Given the description of an element on the screen output the (x, y) to click on. 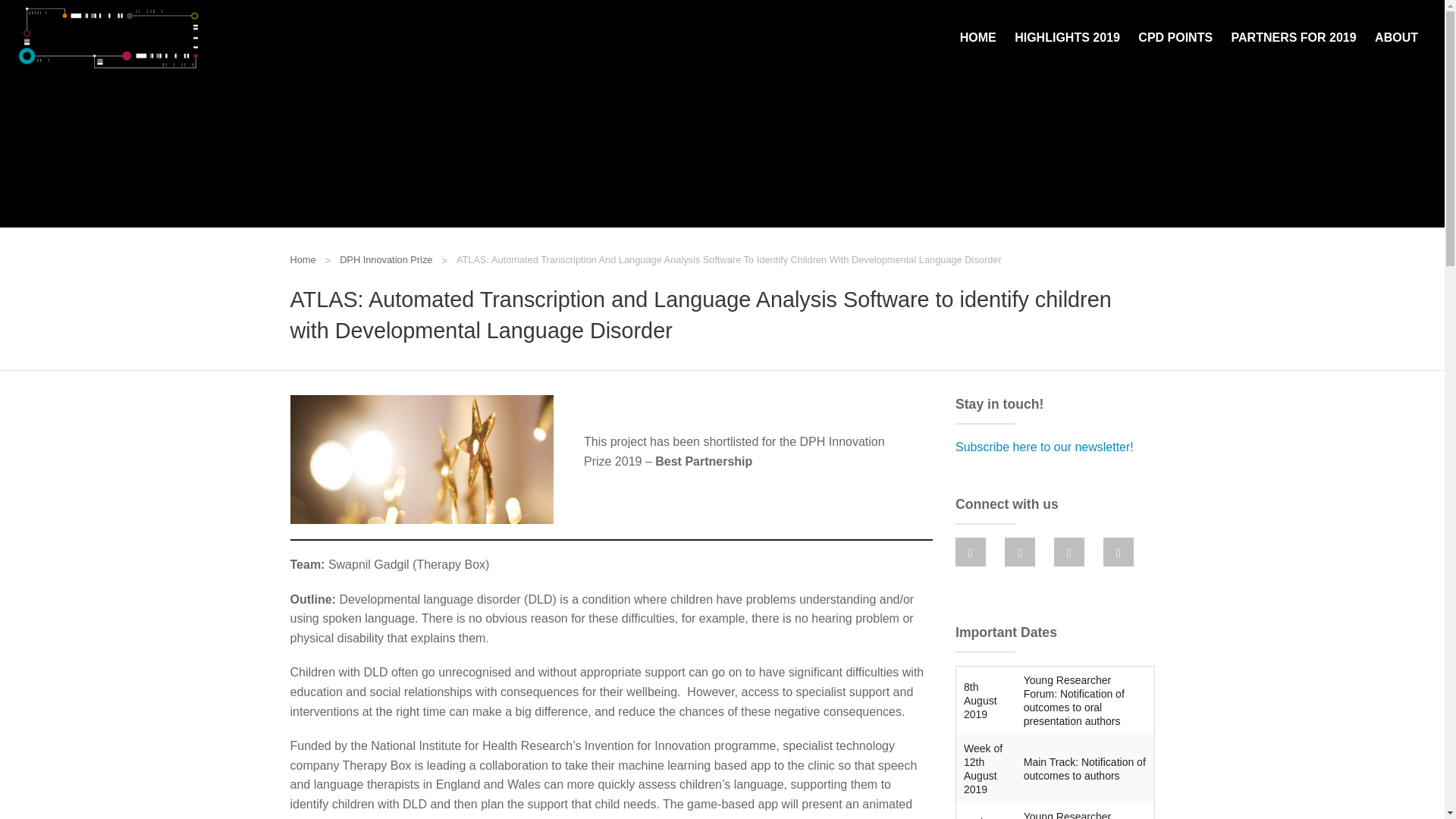
DPH Innovation Prize (373, 259)
HIGHLIGHTS 2019 (1066, 37)
PARTNERS FOR 2019 (1294, 37)
CPD POINTS (1175, 37)
Home (302, 259)
Subscribe here to our newsletter! (1044, 446)
ABOUT (1396, 37)
HOME (978, 37)
